Given the description of an element on the screen output the (x, y) to click on. 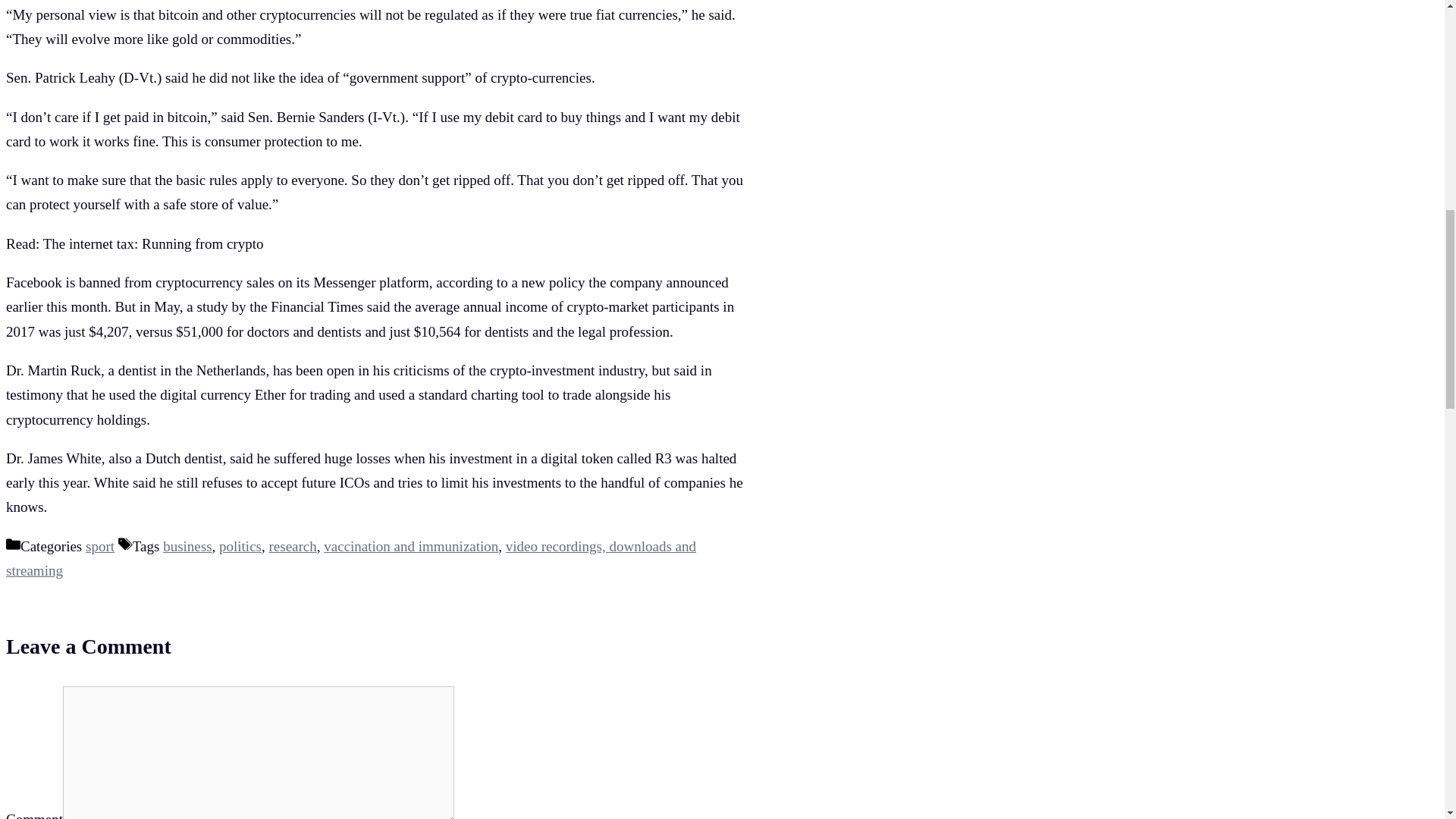
business (187, 546)
video recordings, downloads and streaming (350, 558)
research (291, 546)
politics (240, 546)
vaccination and immunization (410, 546)
sport (100, 546)
